Given the description of an element on the screen output the (x, y) to click on. 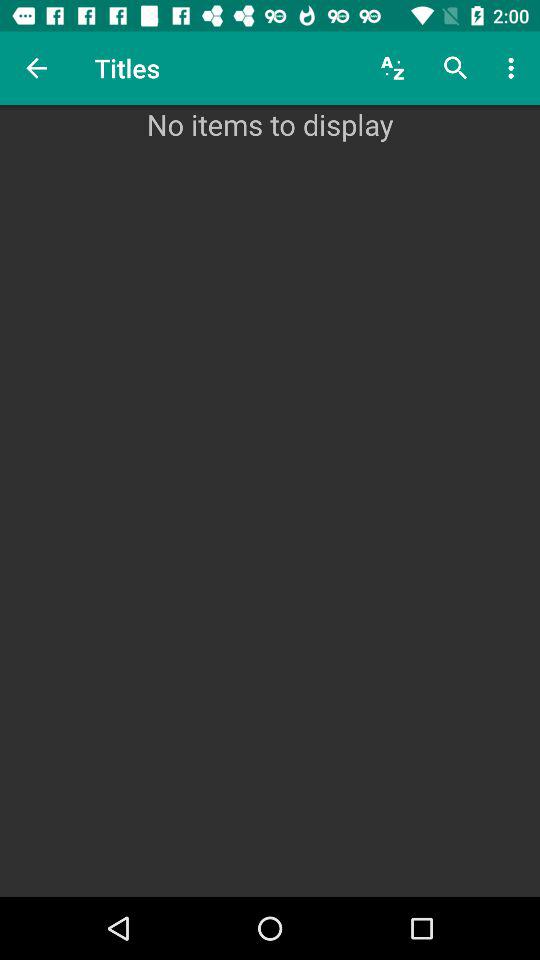
choose the icon above the no items to icon (36, 68)
